Given the description of an element on the screen output the (x, y) to click on. 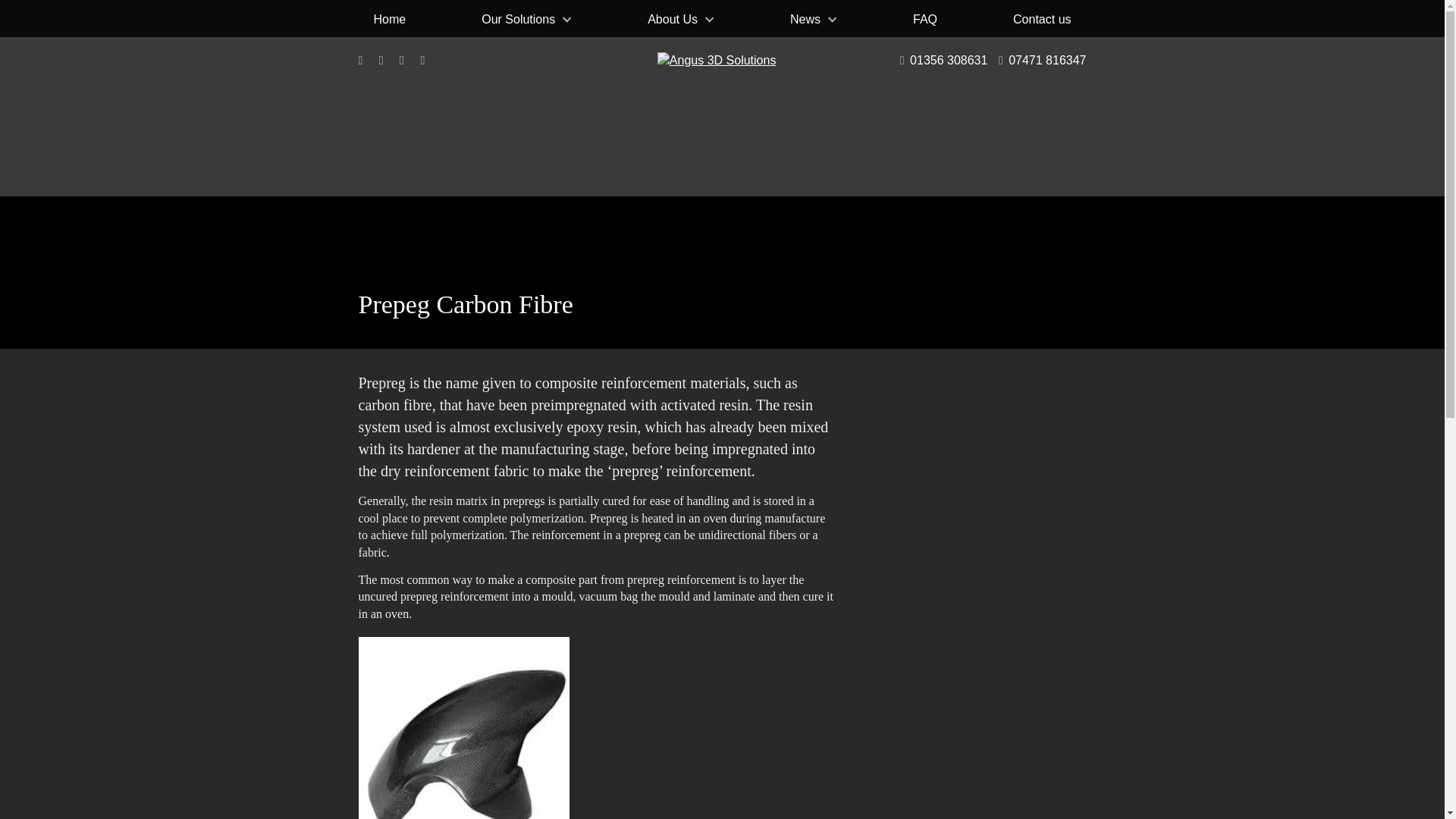
Home (389, 18)
About Us (680, 18)
News (812, 18)
Our Solutions (525, 18)
Go to homepage (721, 116)
